Given the description of an element on the screen output the (x, y) to click on. 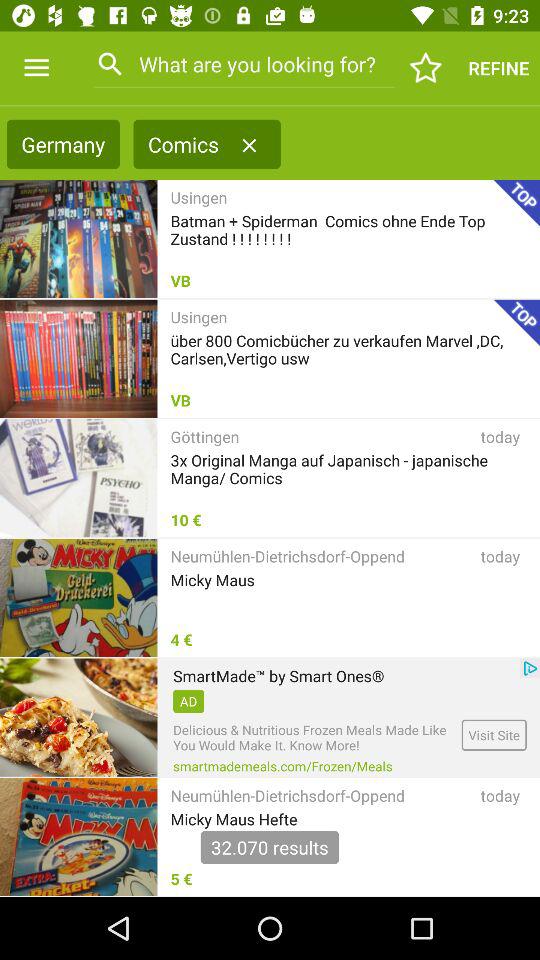
scroll until visit site (493, 734)
